Given the description of an element on the screen output the (x, y) to click on. 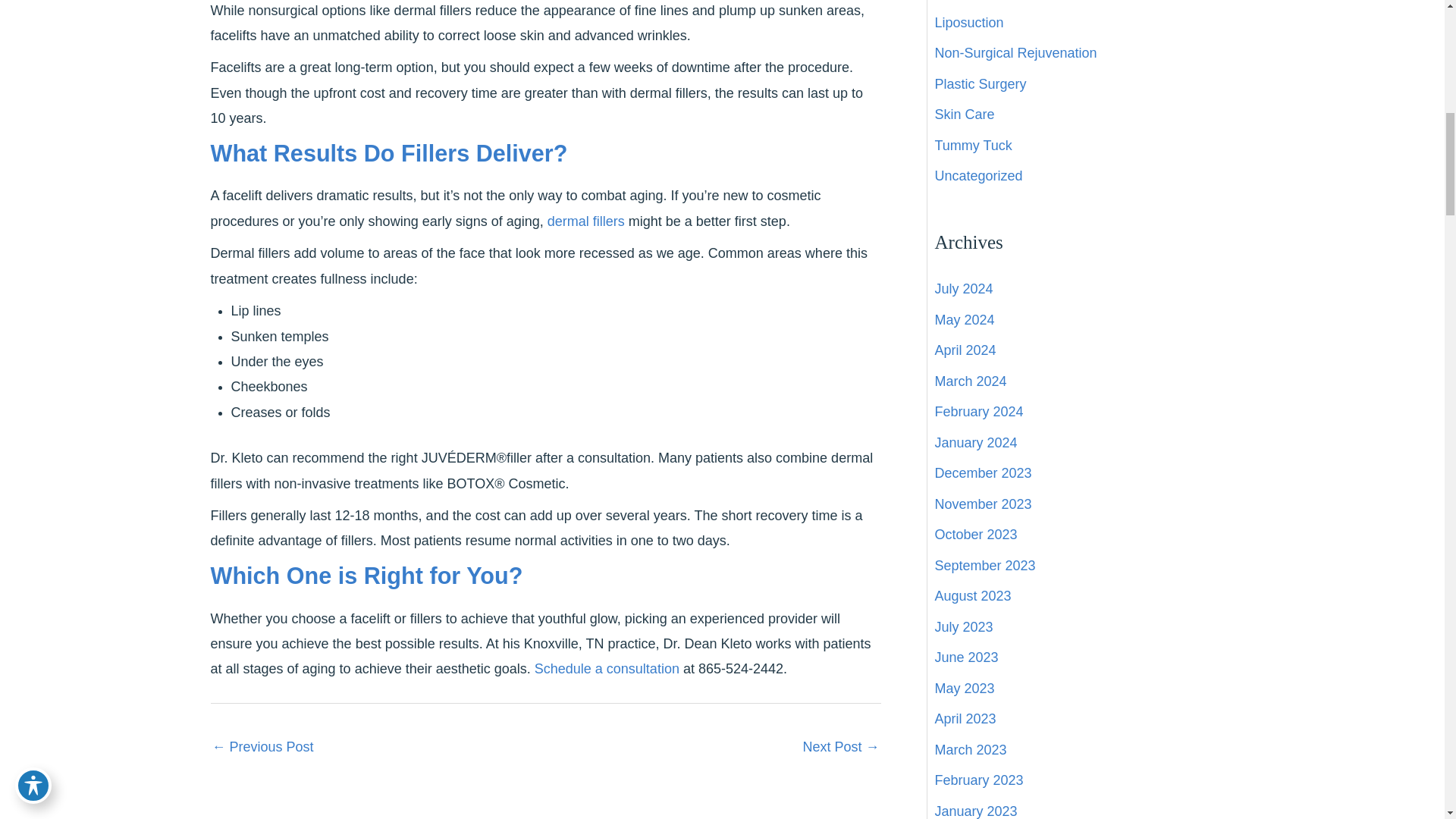
3 New Year's Resolutions for Your Appearance (840, 748)
Is Liposuction Right For You? (263, 748)
